Given the description of an element on the screen output the (x, y) to click on. 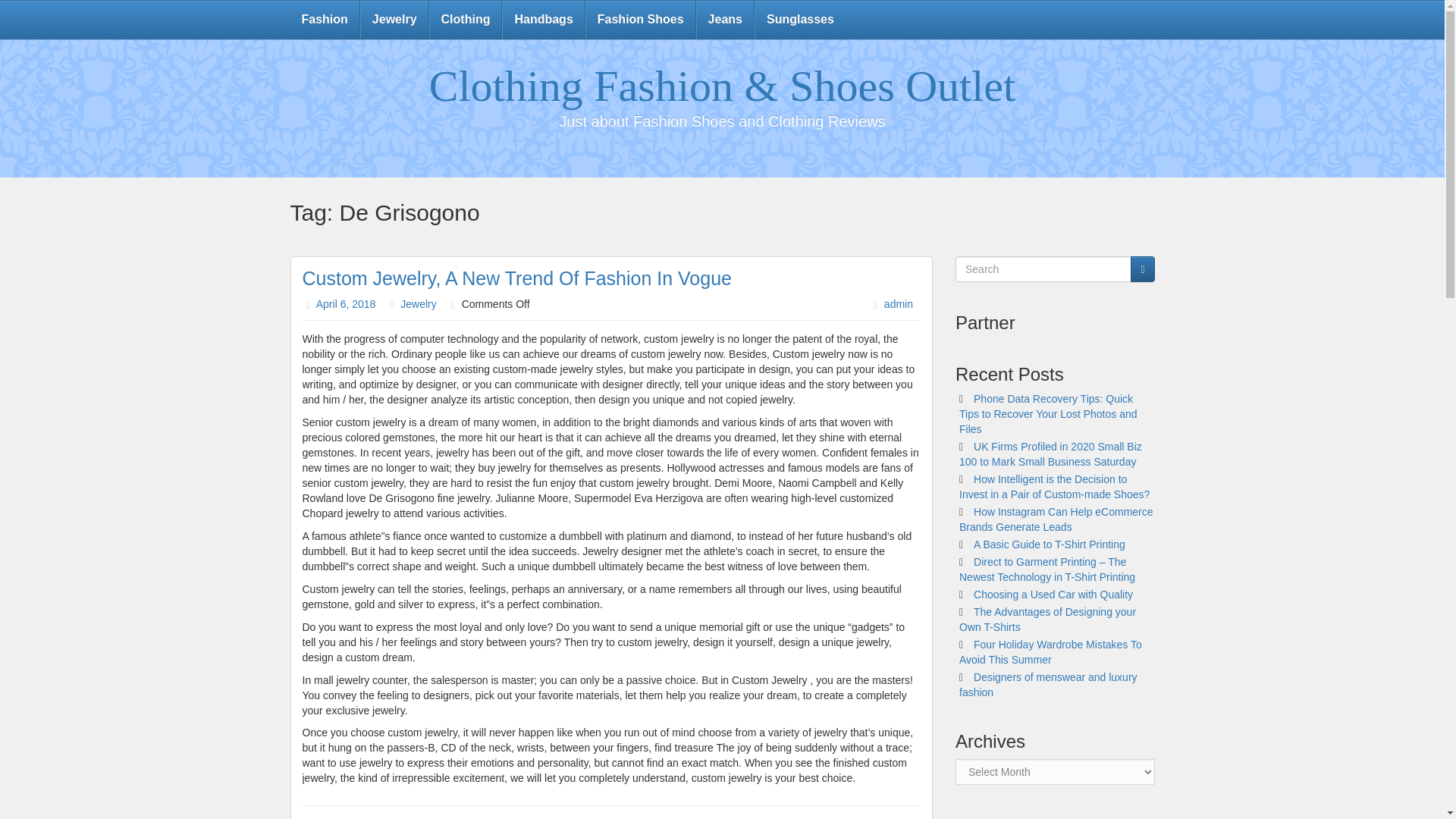
A Basic Guide to T-Shirt Printing (1049, 544)
The Advantages of Designing your Own T-Shirts (1047, 619)
Custom Jewelry, A New Trend Of Fashion In Vogue (515, 278)
April 6, 2018 (345, 304)
Julianne Moore (529, 818)
Posts by admin (897, 304)
Choosing a Used Car with Quality (1053, 594)
Four Holiday Wardrobe Mistakes To Avoid This Summer (1050, 651)
De Grisogono (440, 818)
Jewelry (394, 19)
Jewelry (417, 304)
